Given the description of an element on the screen output the (x, y) to click on. 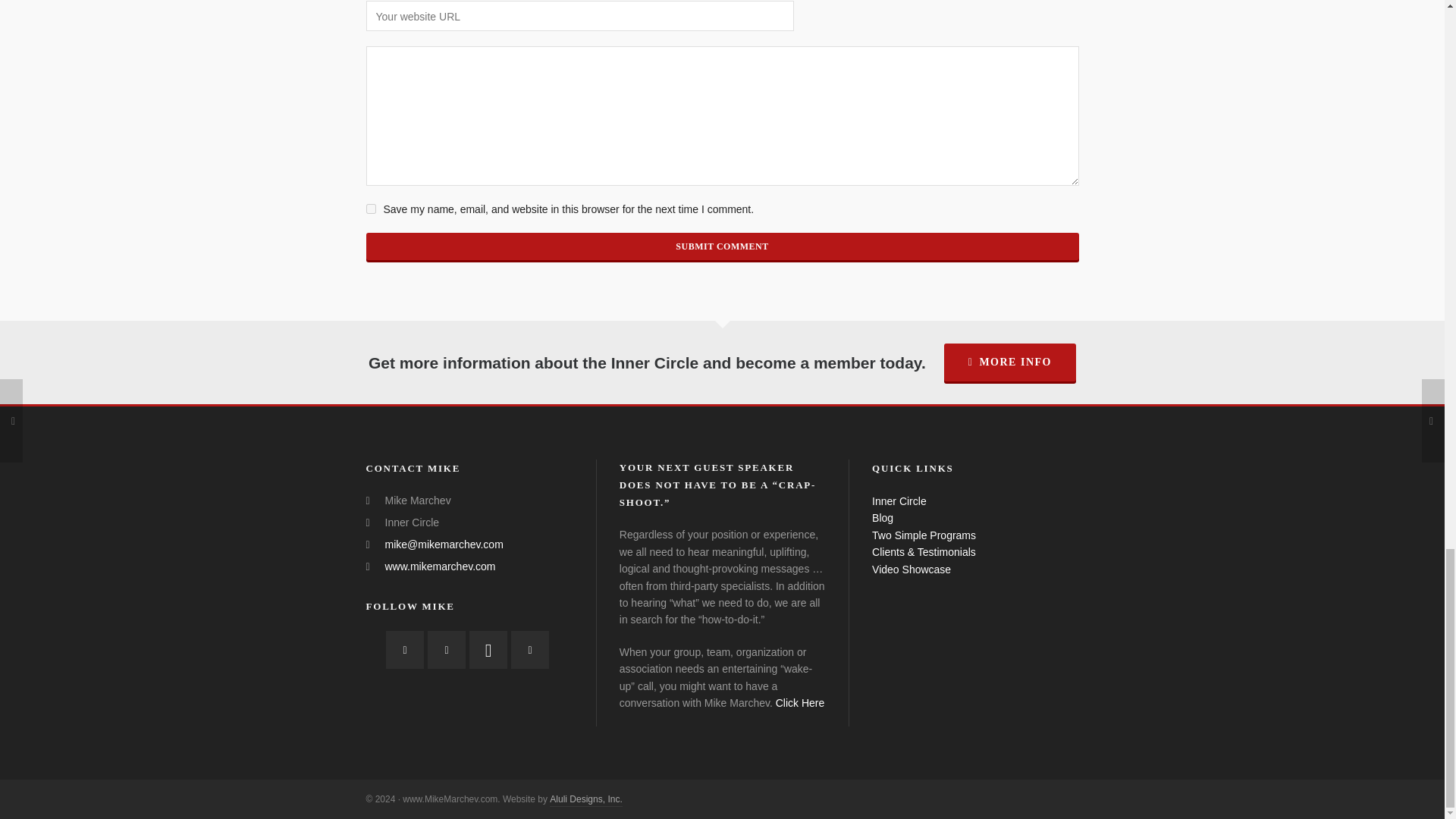
yes (370, 208)
Submit Comment (721, 246)
